Given the description of an element on the screen output the (x, y) to click on. 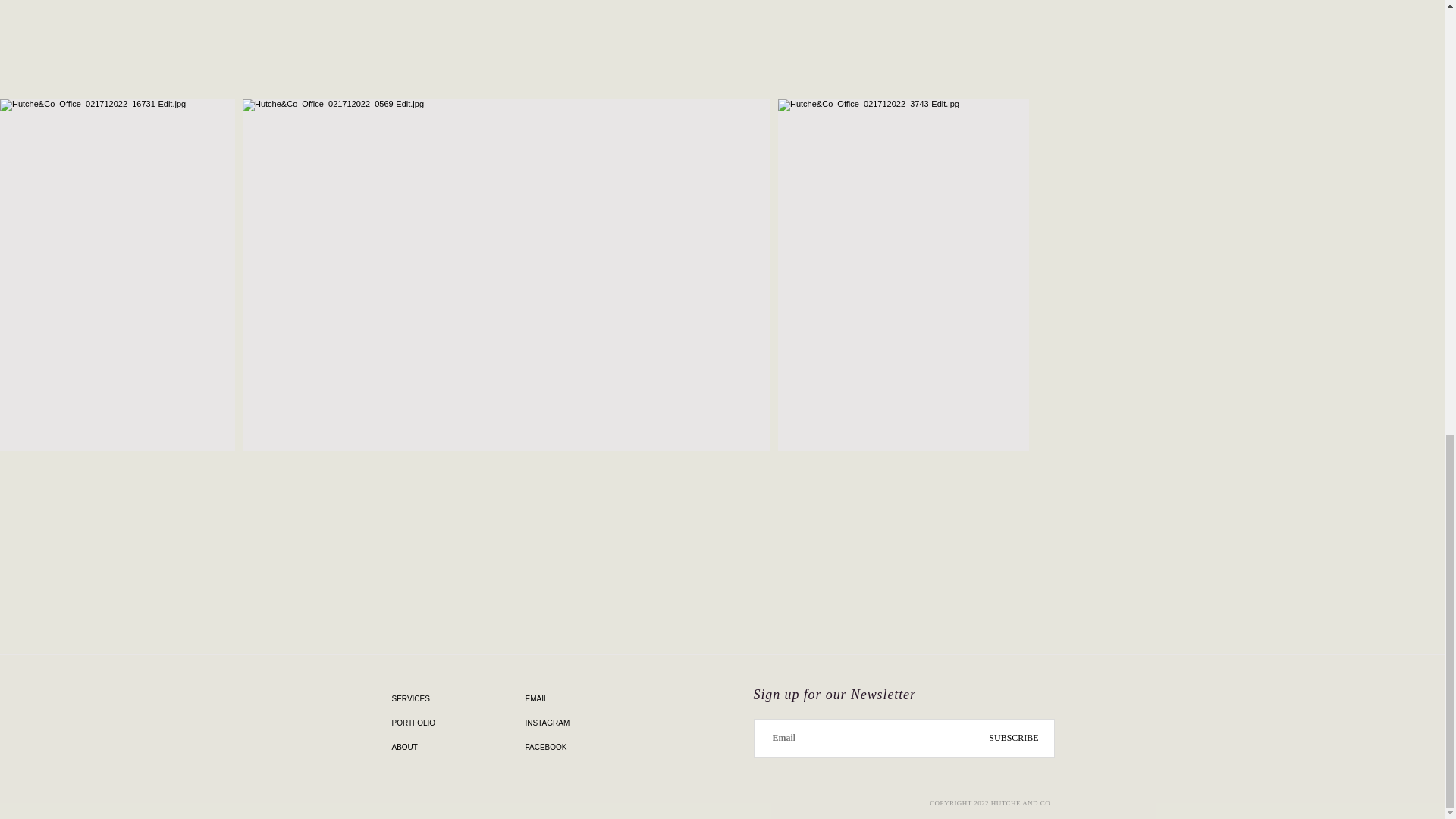
INSTAGRAM (565, 723)
SUBSCRIBE (1014, 738)
ABOUT (453, 747)
SERVICES (453, 699)
EMAIL (565, 699)
FACEBOOK (565, 747)
PORTFOLIO (453, 723)
